Given the description of an element on the screen output the (x, y) to click on. 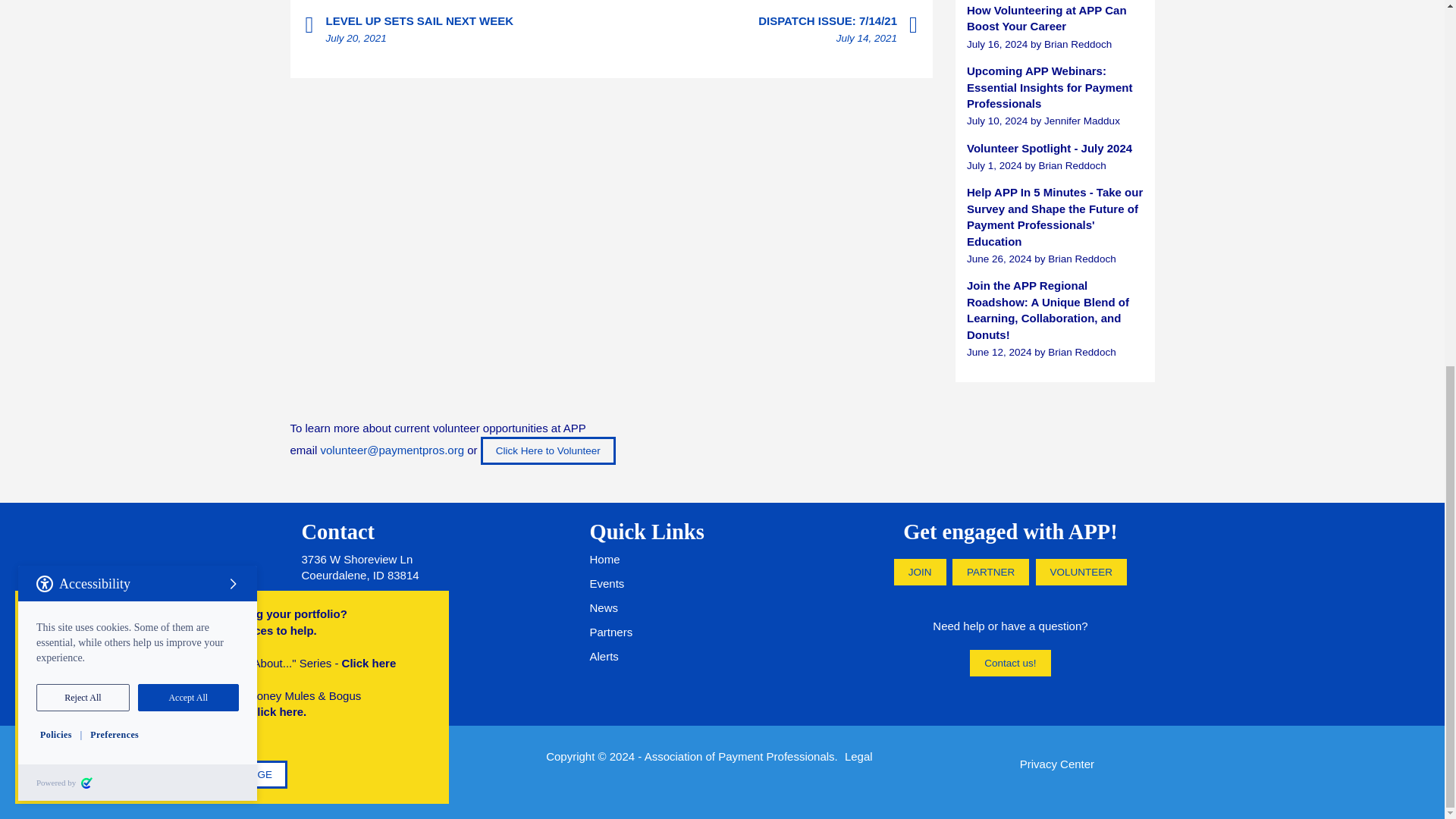
ACKNOWLEDGE (231, 114)
Privacy Widget (137, 79)
Click here. (276, 51)
Click here (369, 4)
